Given the description of an element on the screen output the (x, y) to click on. 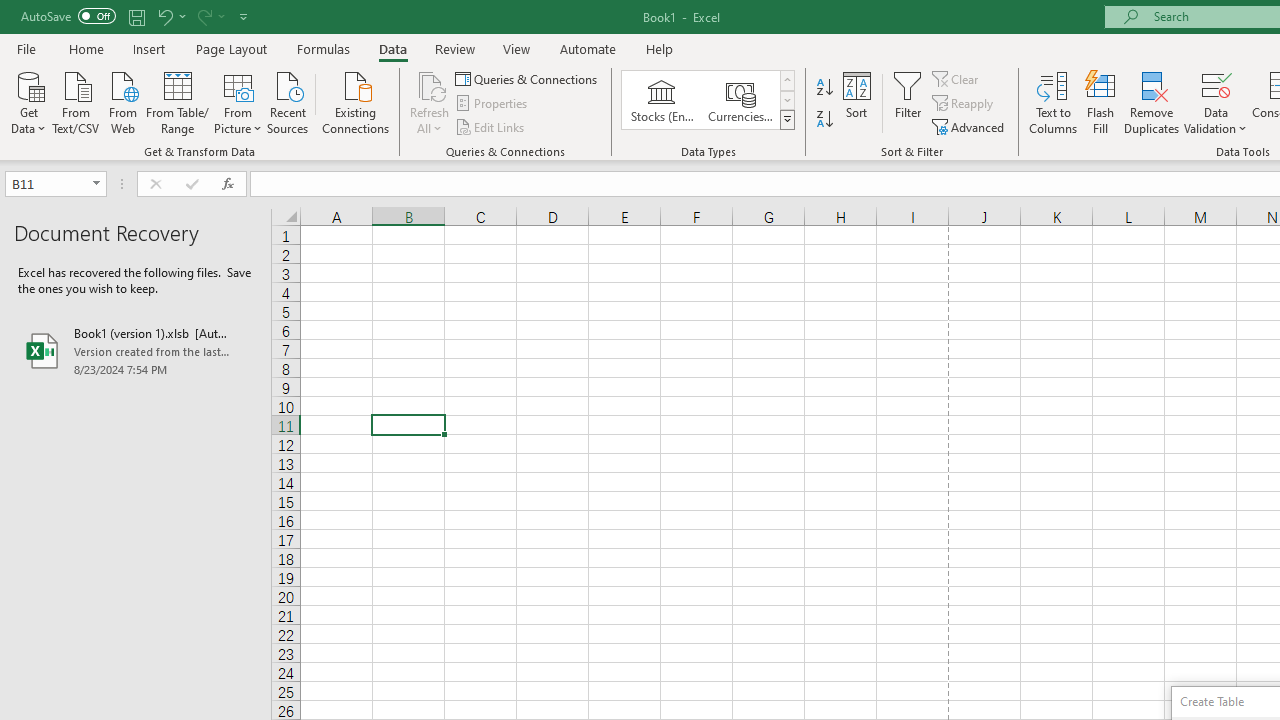
System (10, 11)
Stocks (English) (662, 100)
Name Box (46, 183)
Sort Z to A (824, 119)
Save (136, 15)
Data Validation... (1215, 84)
Sort A to Z (824, 87)
Remove Duplicates (1151, 102)
Class: NetUIImage (787, 119)
From Table/Range (177, 101)
Get Data (28, 101)
Flash Fill (1101, 102)
